Given the description of an element on the screen output the (x, y) to click on. 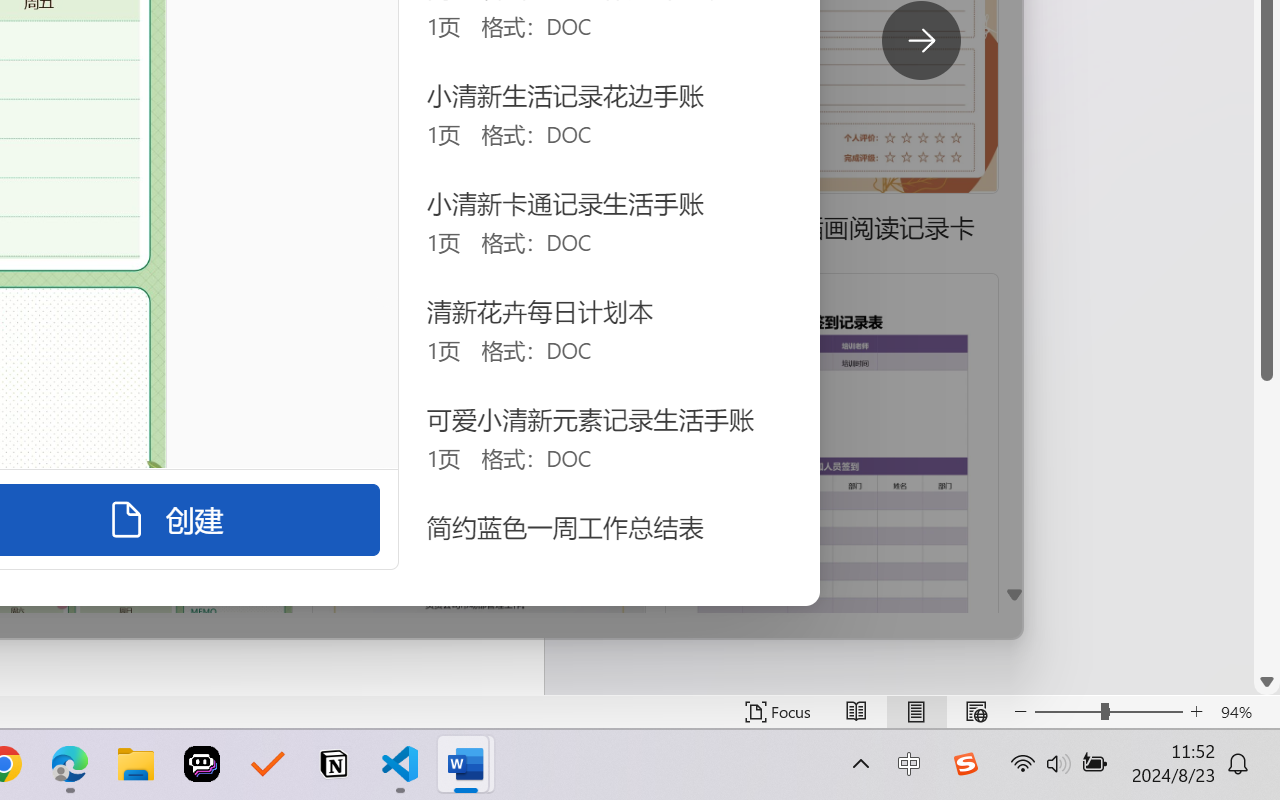
Page down (1267, 524)
Line down (1267, 681)
